Given the description of an element on the screen output the (x, y) to click on. 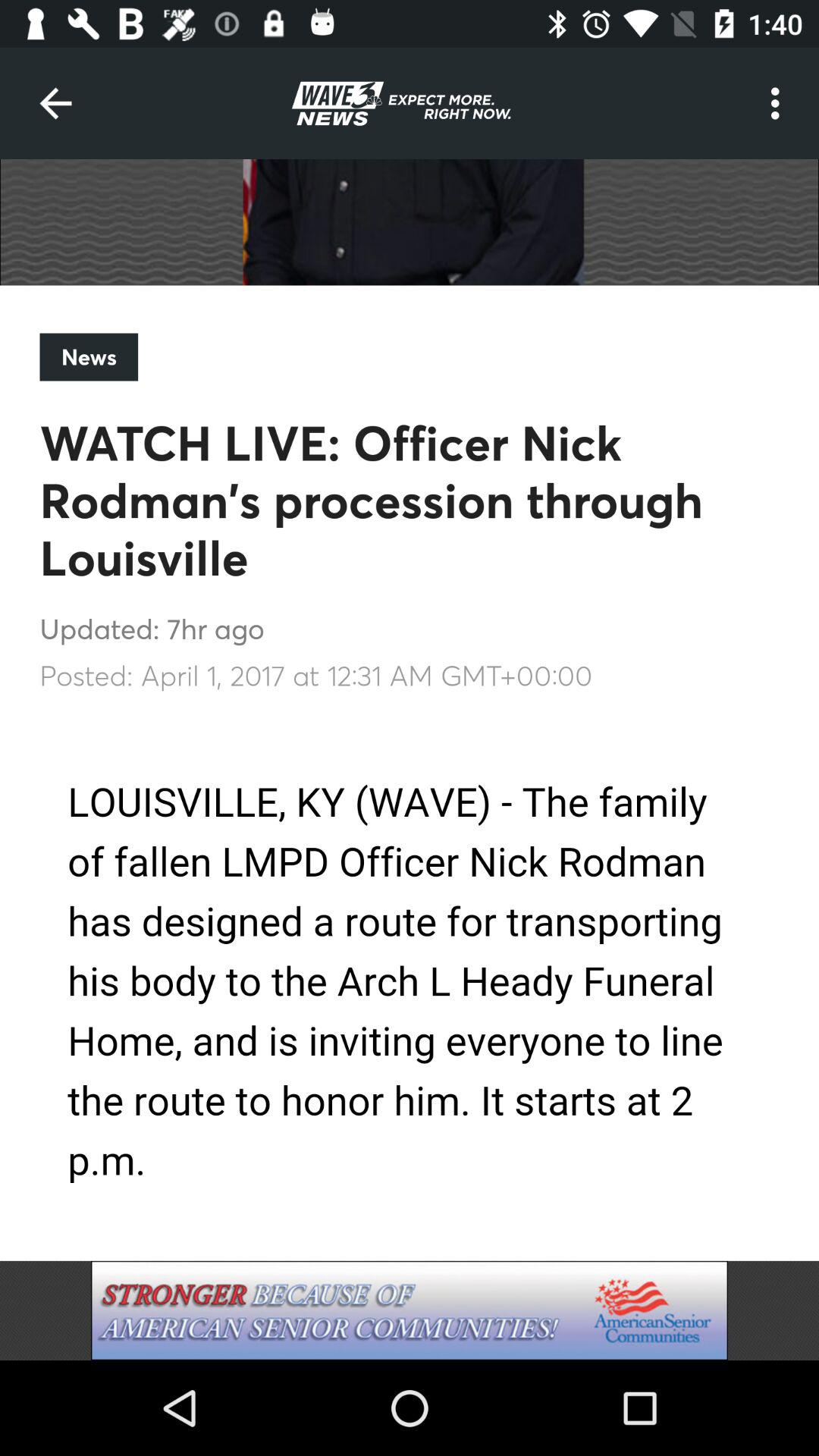
click to view advertisement (409, 1310)
